Given the description of an element on the screen output the (x, y) to click on. 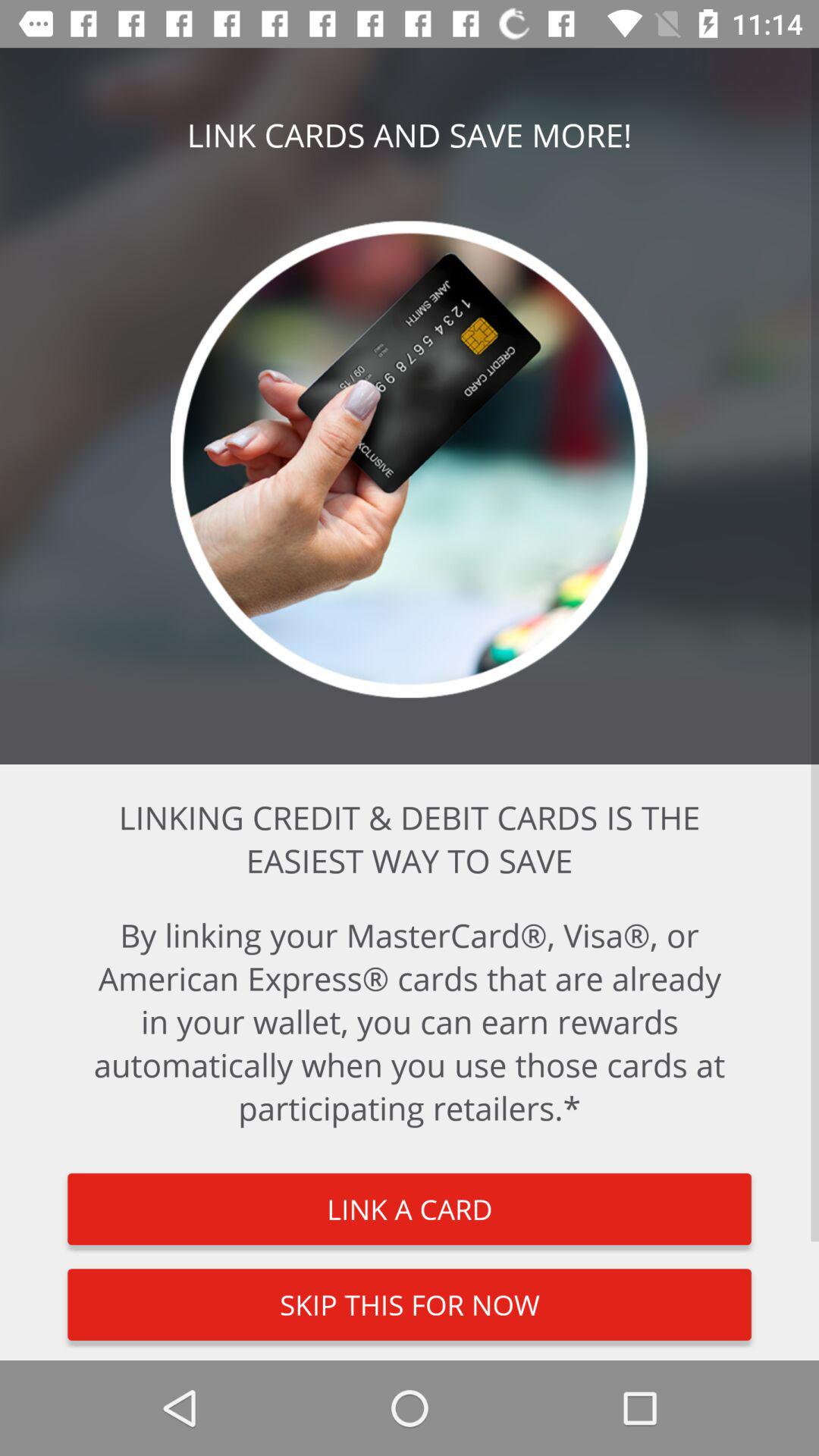
open the skip this for item (409, 1304)
